Given the description of an element on the screen output the (x, y) to click on. 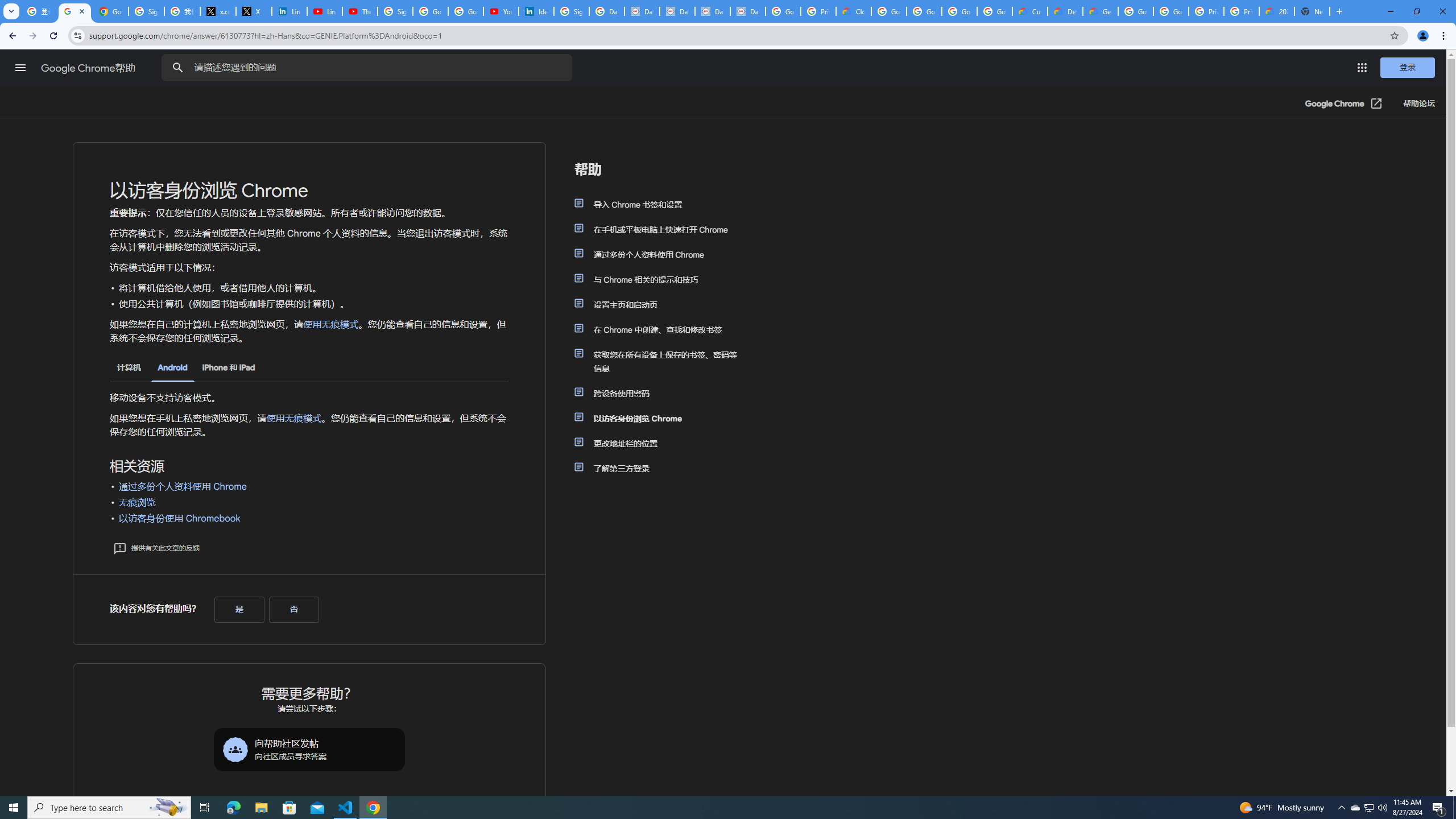
X (253, 11)
Data Privacy Framework (712, 11)
Android (172, 368)
Cloud Data Processing Addendum | Google Cloud (853, 11)
